Given the description of an element on the screen output the (x, y) to click on. 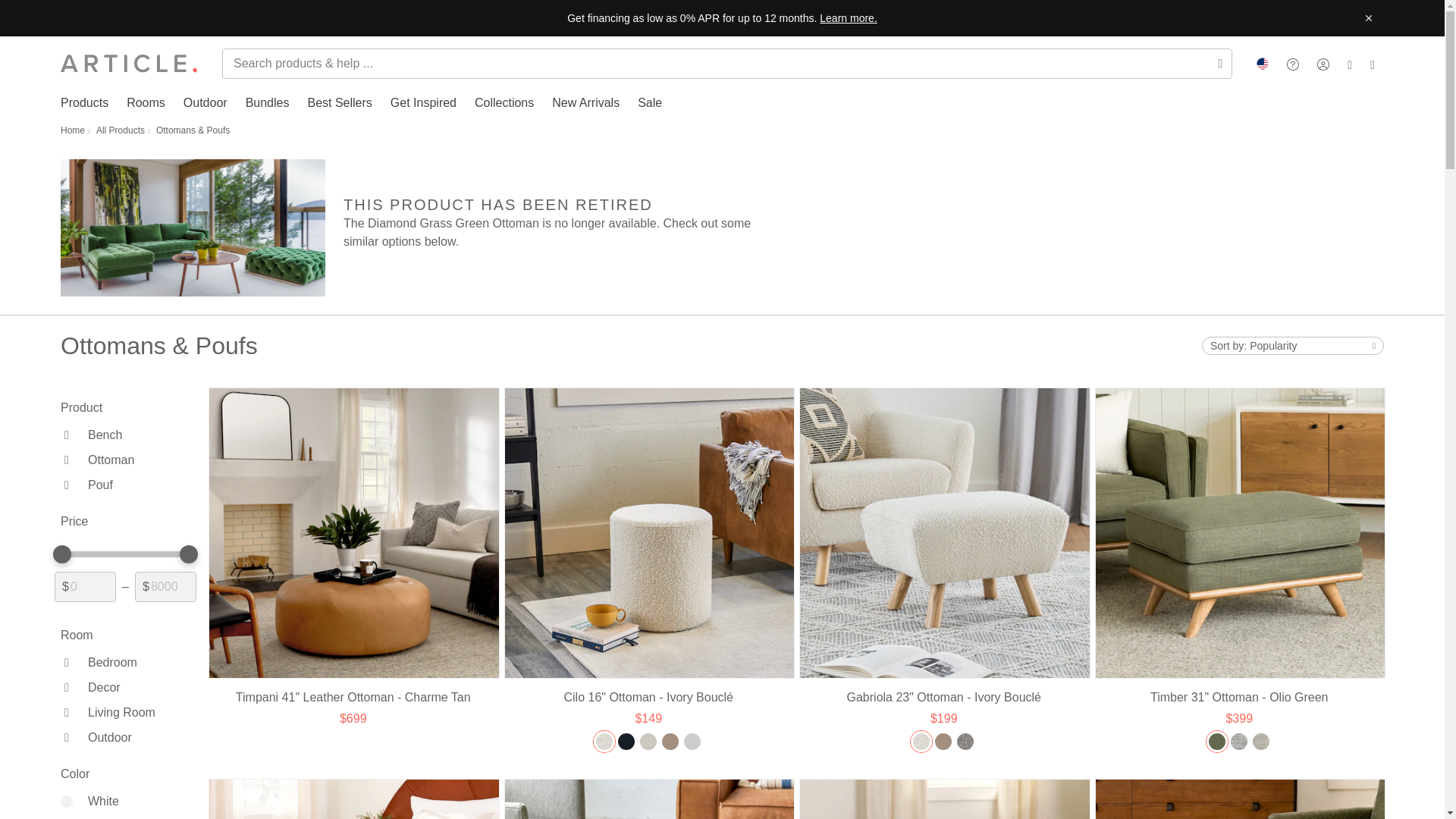
New Arrivals (585, 103)
Outdoor (205, 103)
0 (85, 586)
Sale (649, 103)
Rooms (145, 103)
Article (128, 63)
Learn more. (847, 18)
8000 (165, 586)
Article (128, 63)
Products (84, 103)
